Given the description of an element on the screen output the (x, y) to click on. 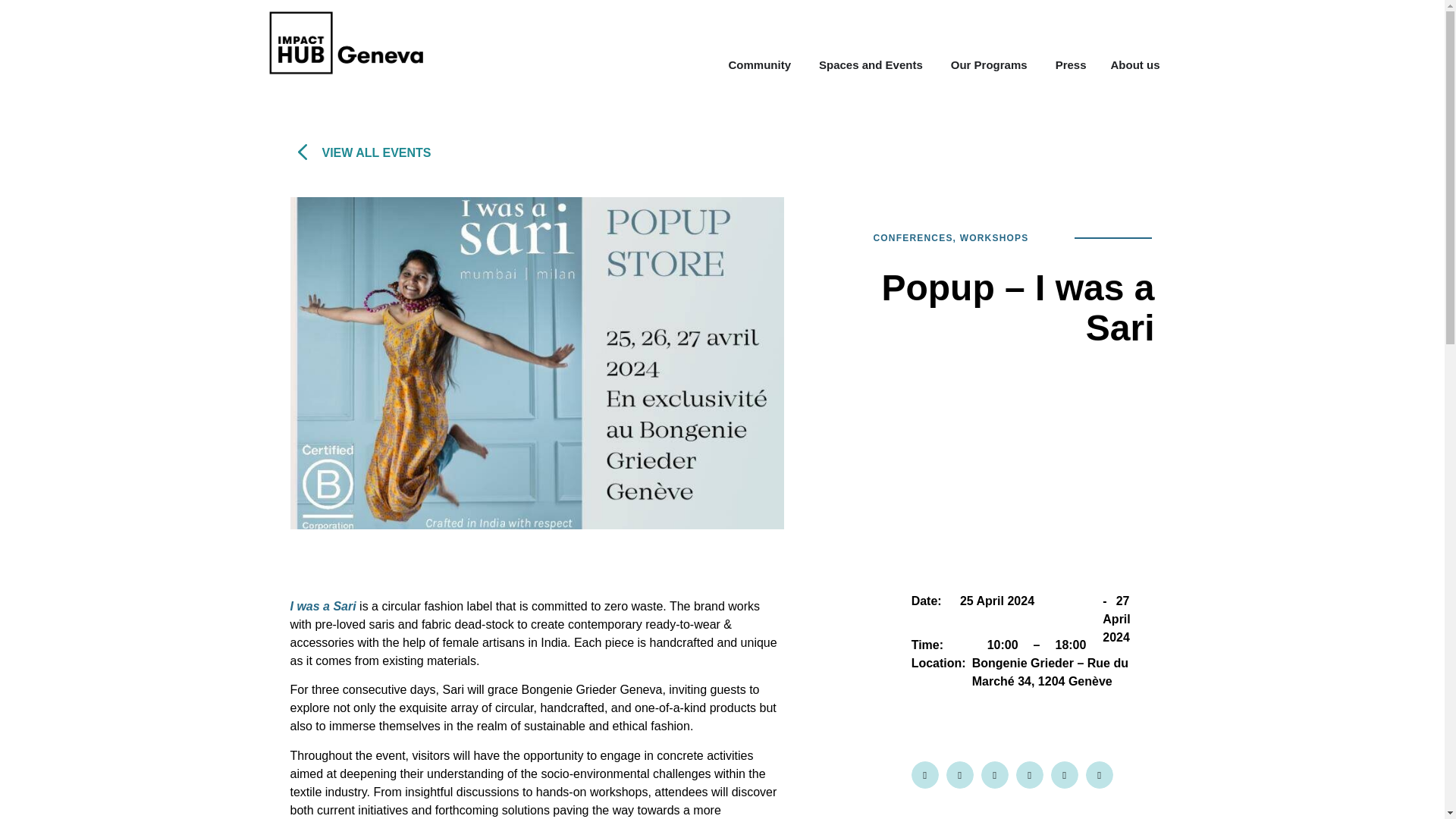
Press (1070, 64)
Our Programs (988, 64)
